Given the description of an element on the screen output the (x, y) to click on. 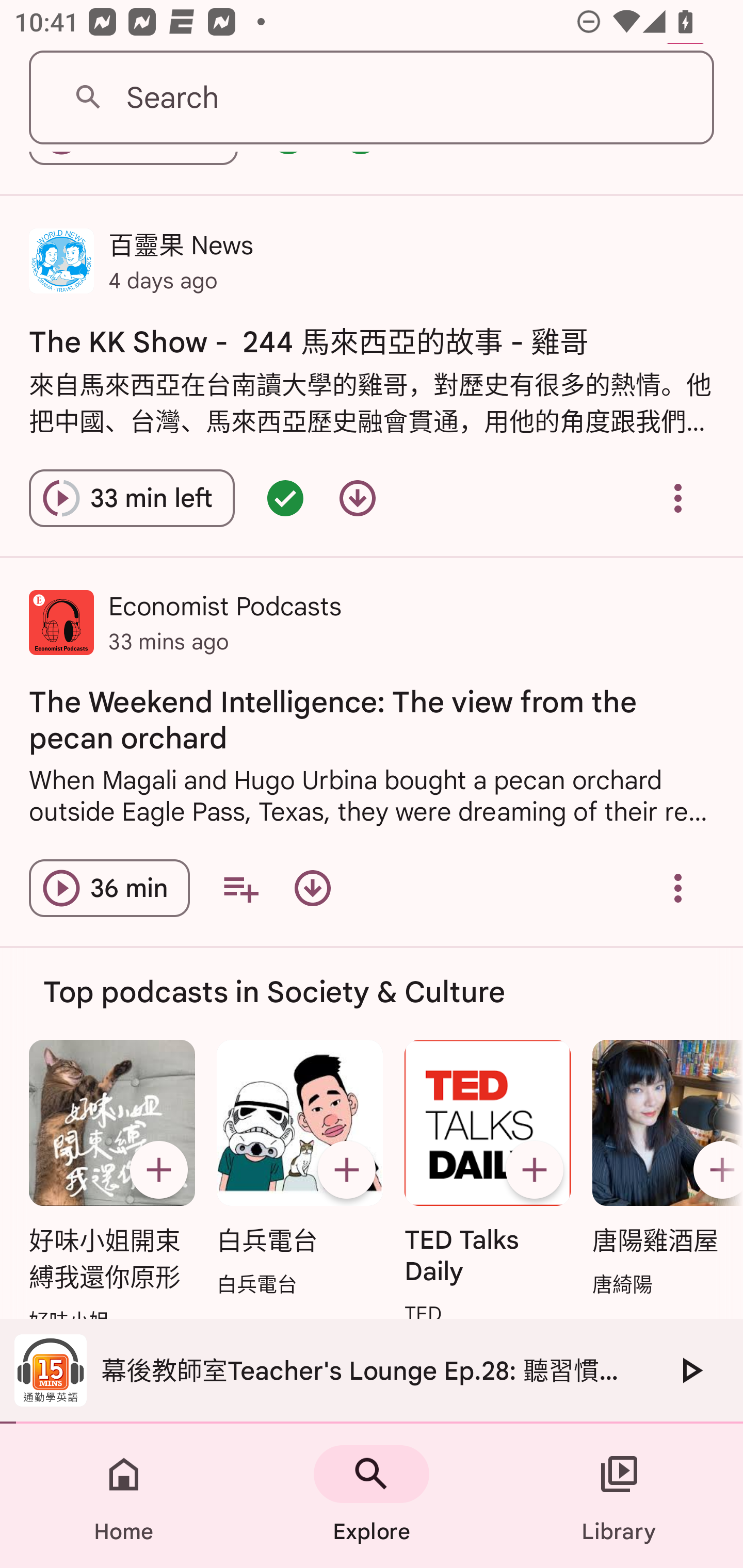
Search (371, 97)
Episode queued - double tap for options (284, 497)
Download episode (357, 497)
Overflow menu (677, 497)
Add to your queue (240, 888)
Download episode (312, 888)
Overflow menu (677, 888)
好味小姐開束縛我還你原形 Subscribe 好味小姐開束縛我還你原形 好味小姐 (111, 1187)
白兵電台 Subscribe 白兵電台 白兵電台 (299, 1169)
TED Talks Daily Subscribe TED Talks Daily TED (487, 1183)
唐陽雞酒屋 Subscribe 唐陽雞酒屋 唐綺陽 (662, 1169)
Subscribe (158, 1169)
Subscribe (346, 1169)
Subscribe (534, 1169)
Subscribe (714, 1169)
Play (690, 1370)
Home (123, 1495)
Library (619, 1495)
